Given the description of an element on the screen output the (x, y) to click on. 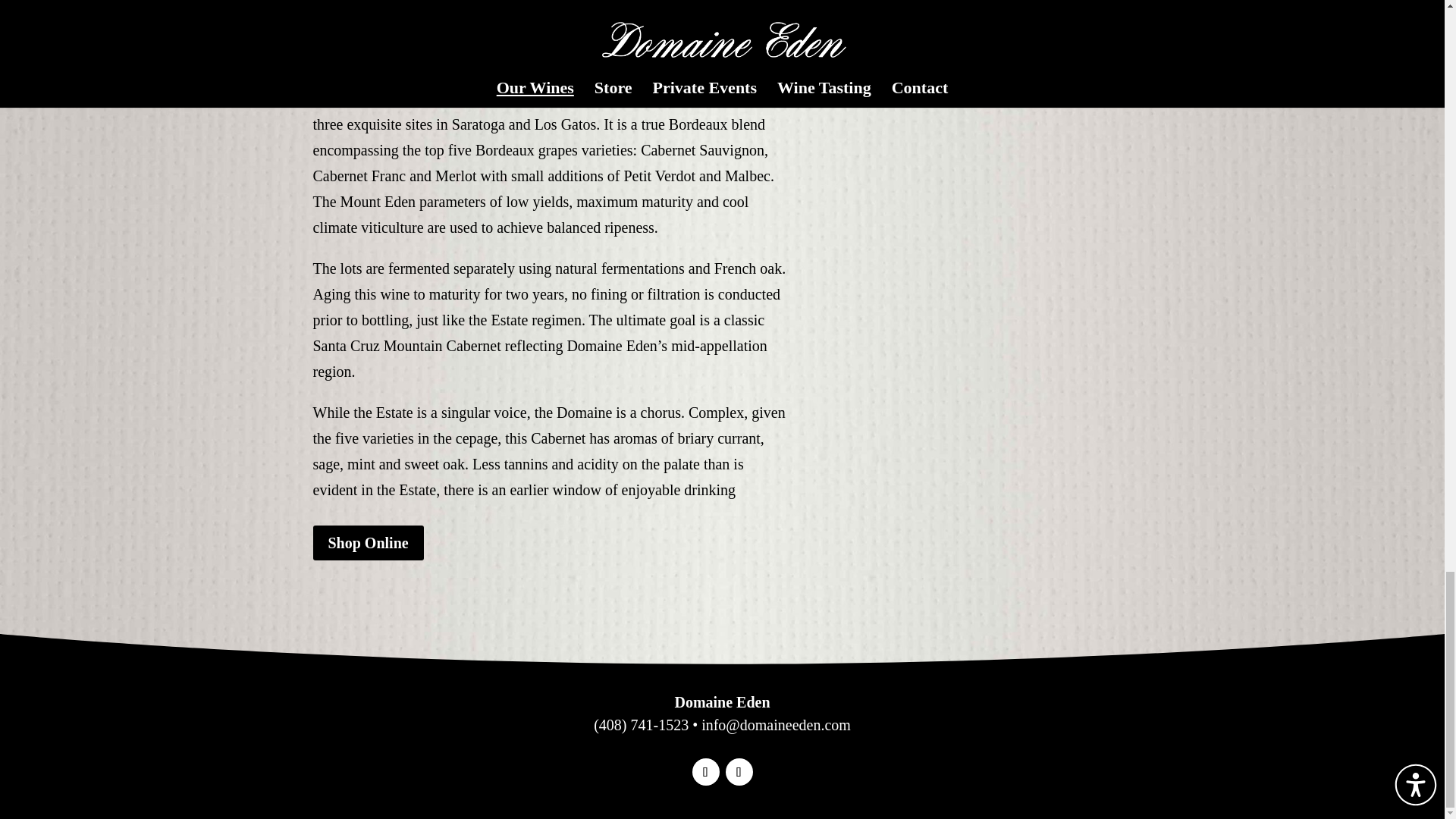
Follow on Facebook (738, 771)
Follow on Instagram (705, 771)
Shop Online (368, 542)
